Given the description of an element on the screen output the (x, y) to click on. 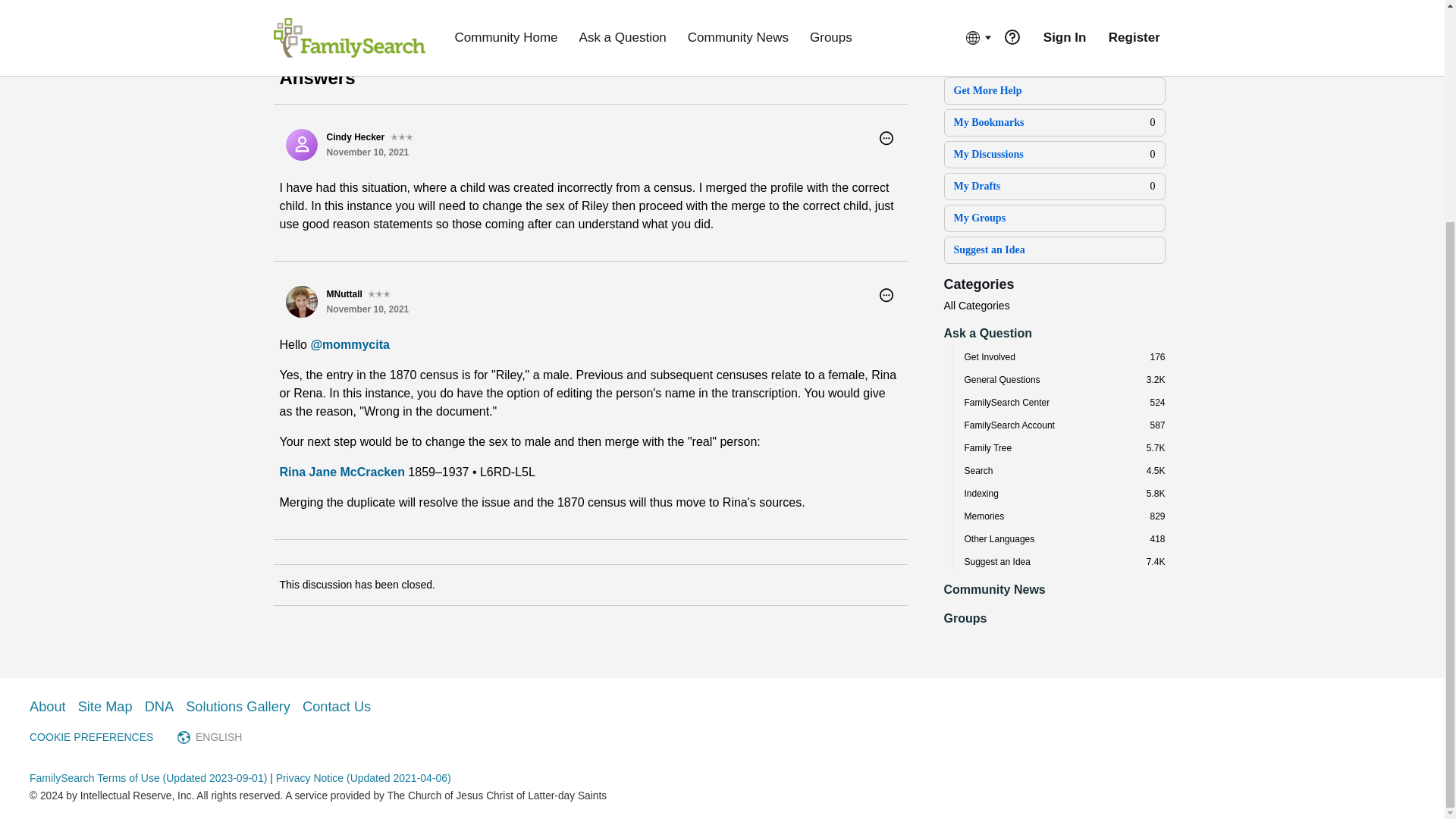
176 discussions (1157, 357)
Cindy Hecker (301, 144)
November 10, 2021 10:13PM (367, 308)
524 discussions (1157, 402)
3,150 discussions (1156, 379)
Level 3 (401, 137)
Level 3 (379, 294)
November 10, 2021 10:09PM (367, 152)
MNuttall (301, 301)
